Given the description of an element on the screen output the (x, y) to click on. 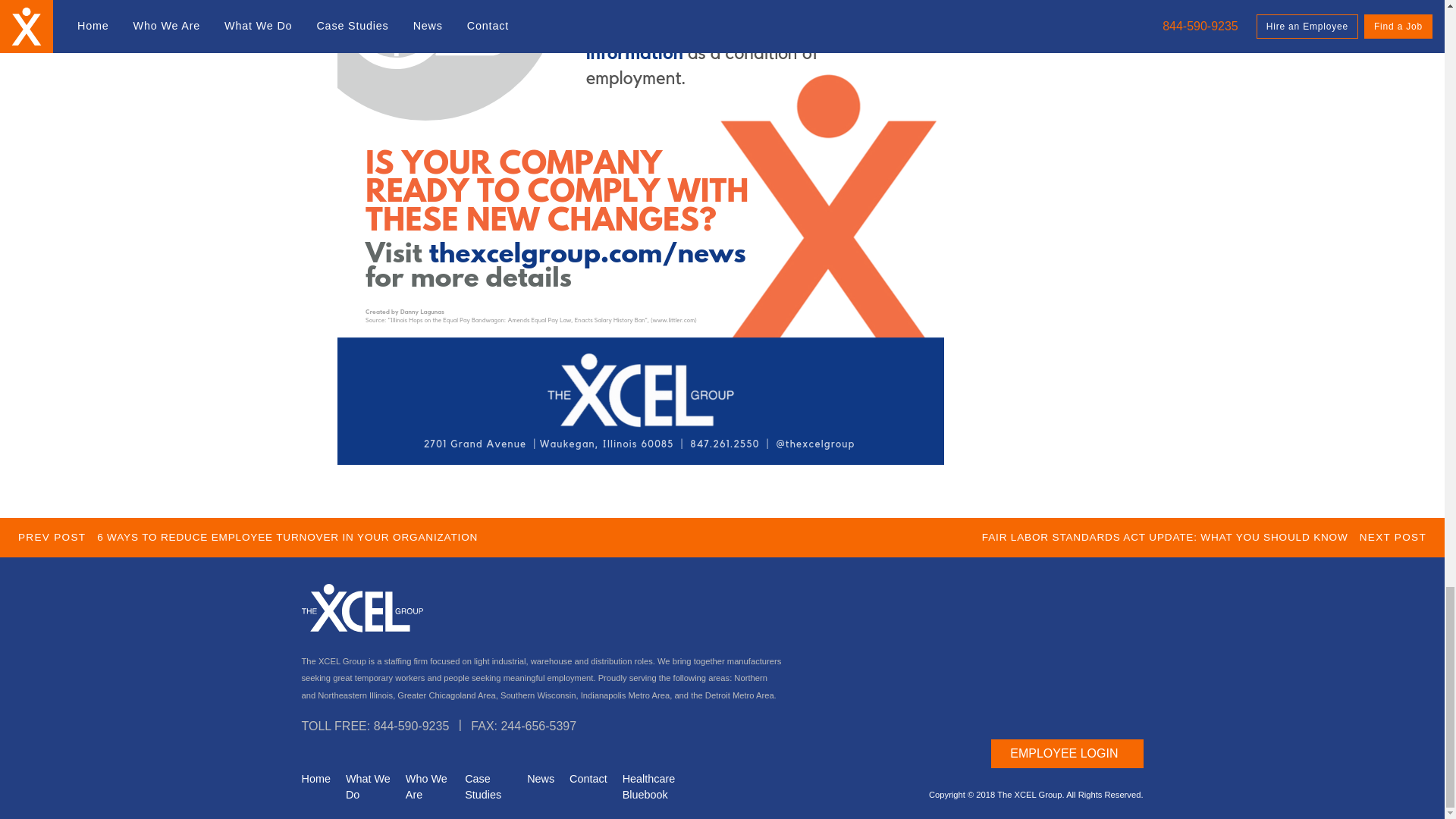
Healthcare Bluebook (659, 787)
Home (315, 787)
Who We Are (427, 787)
News (540, 787)
EMPLOYEE LOGIN (1066, 753)
Contact (588, 787)
What We Do (368, 787)
Case Studies (488, 787)
